Given the description of an element on the screen output the (x, y) to click on. 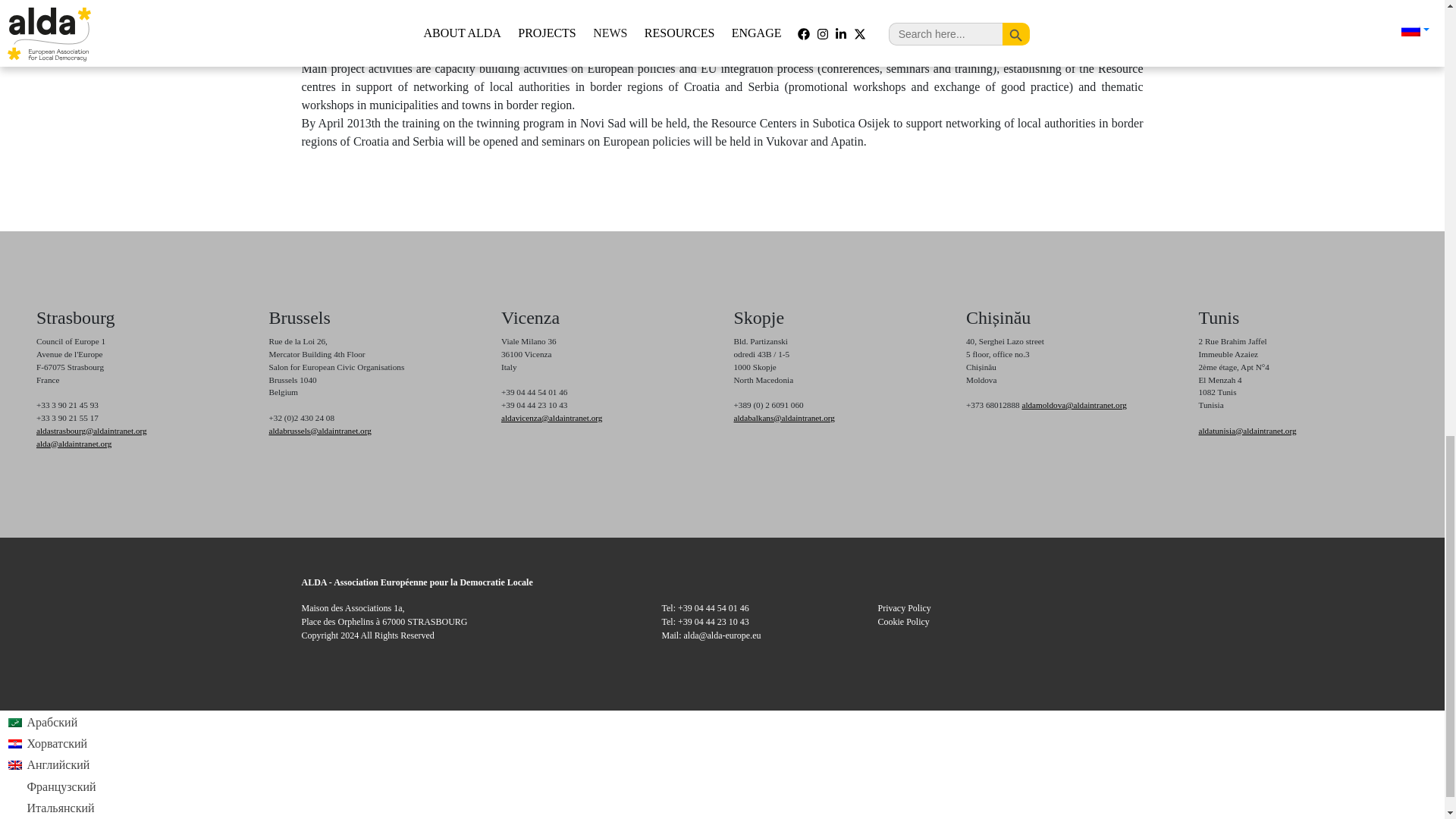
Privacy Policy  (904, 607)
Cookie Policy (903, 621)
Cookie Policy  (903, 621)
Privacy Policy (904, 607)
